Given the description of an element on the screen output the (x, y) to click on. 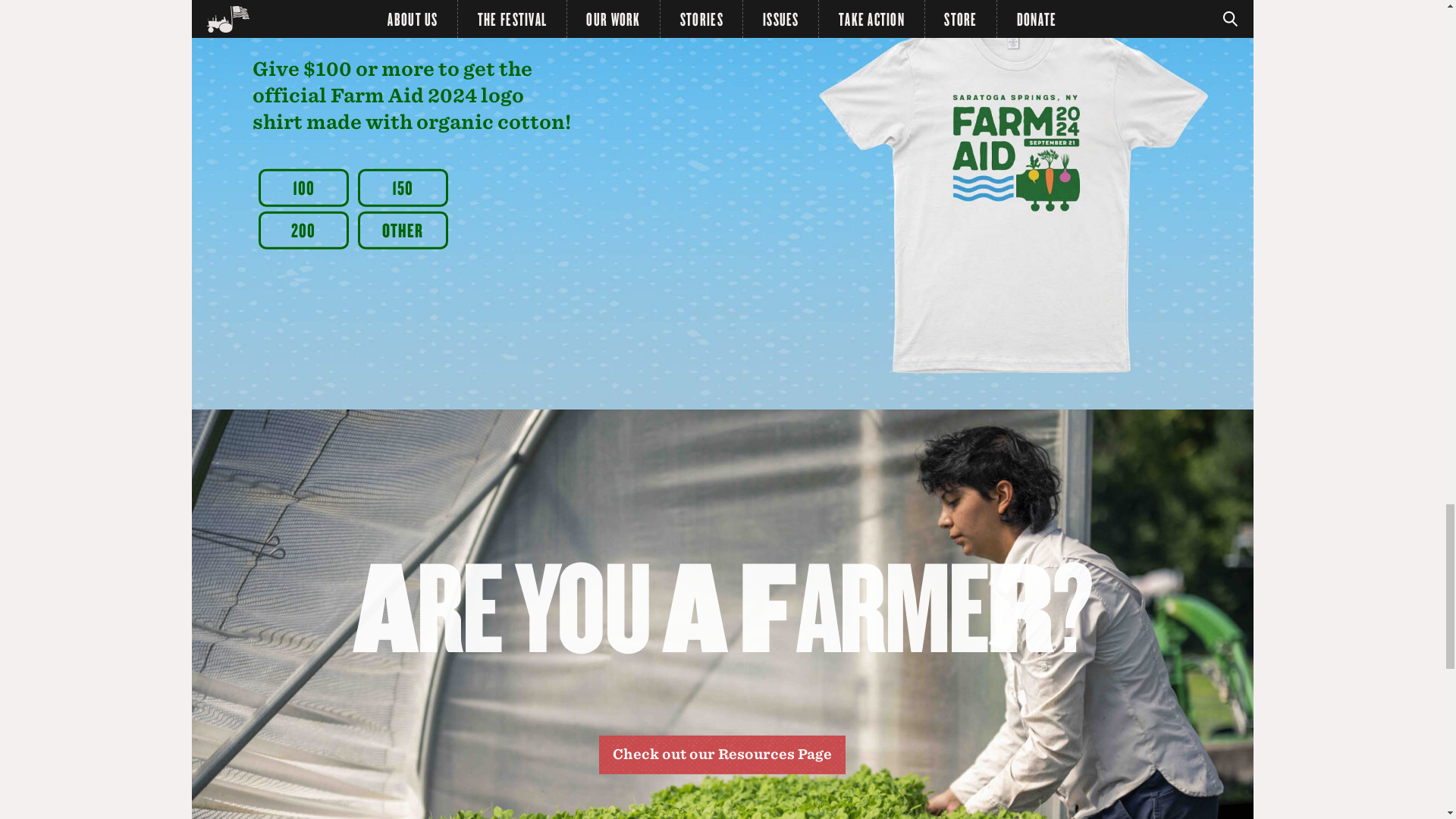
OTHER (403, 230)
100 (304, 187)
200 (304, 230)
Check out our Resources Page (721, 754)
150 (403, 187)
